Given the description of an element on the screen output the (x, y) to click on. 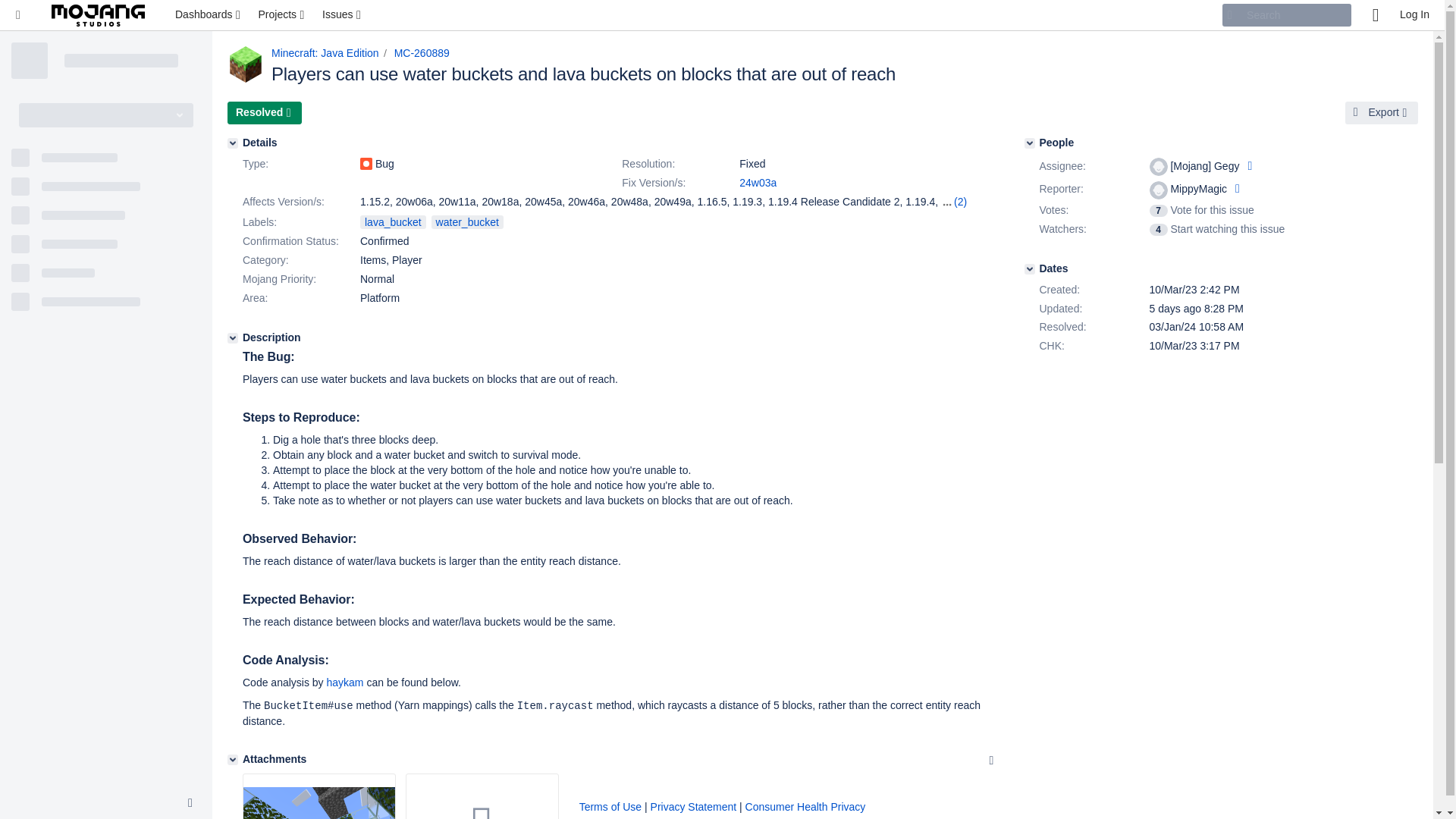
Export (1381, 112)
Description (232, 337)
24w03a (757, 182)
Consumer Health Privacy (805, 806)
Dashboards (208, 15)
Minecraft: Java Edition (324, 52)
View and manage your dashboards (208, 15)
Resolved (264, 112)
MC-260889 (421, 52)
